Given the description of an element on the screen output the (x, y) to click on. 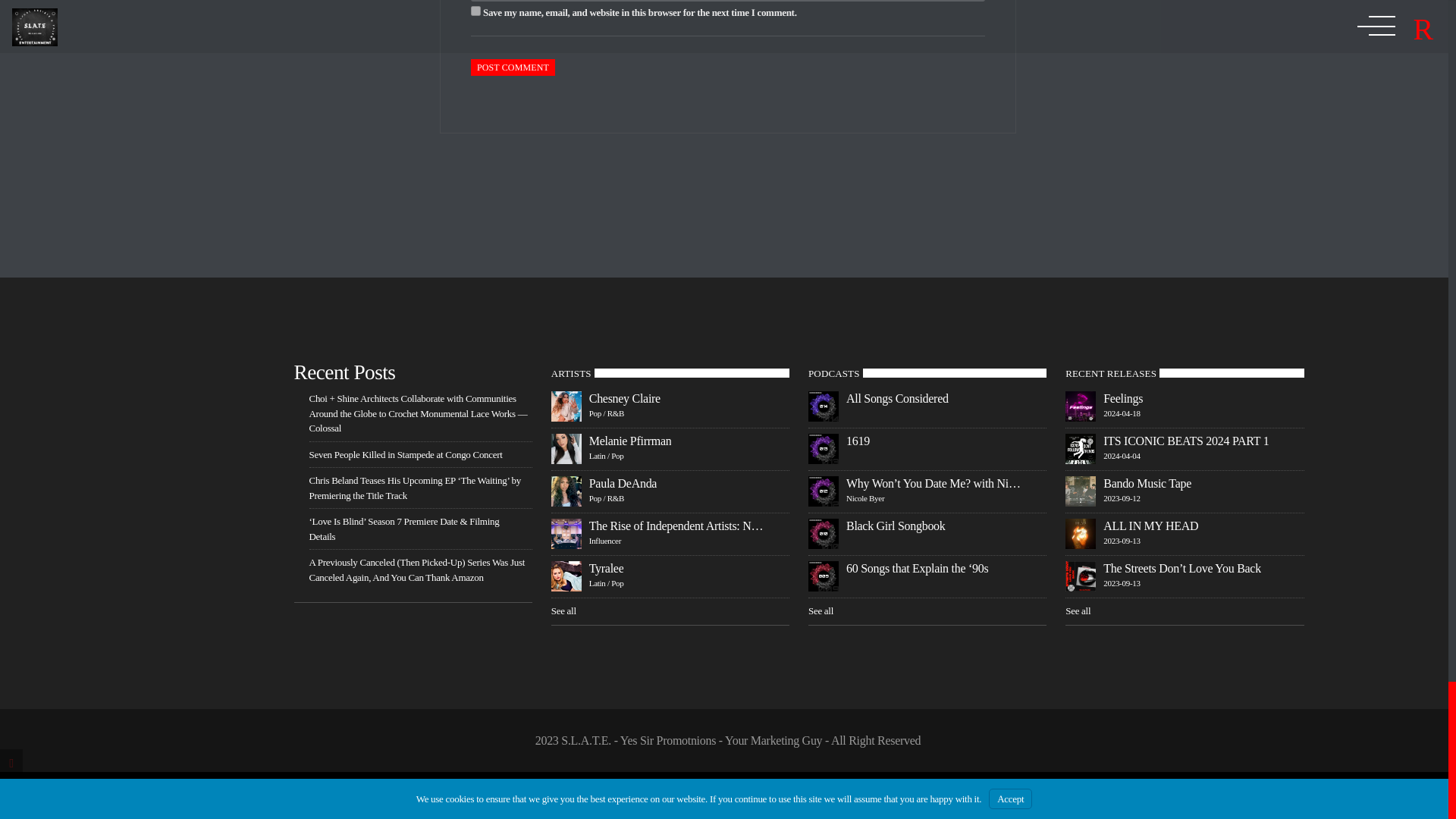
yes (475, 10)
Post Comment (512, 67)
